Given the description of an element on the screen output the (x, y) to click on. 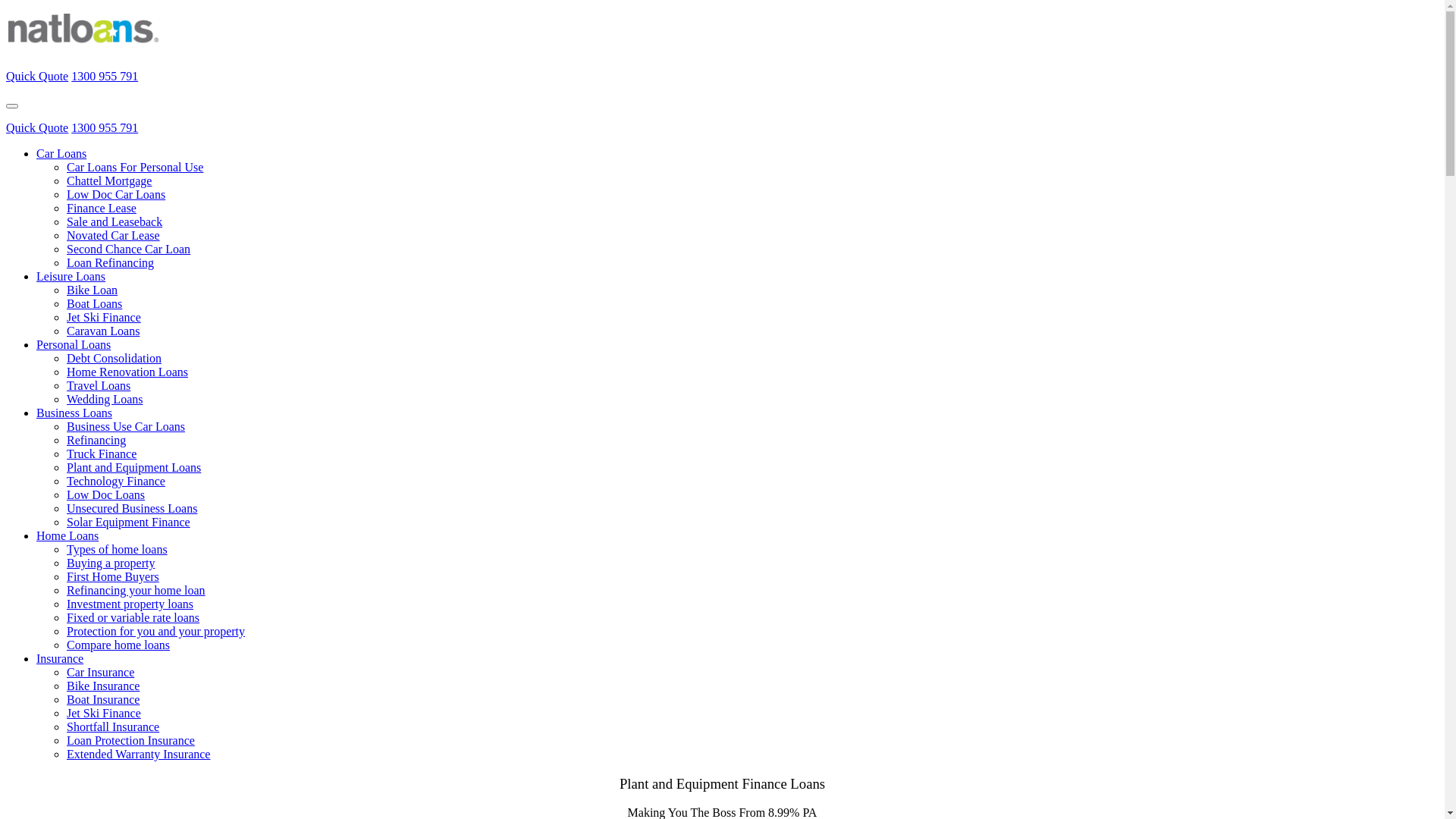
Car Insurance Element type: text (100, 671)
Travel Loans Element type: text (98, 385)
Loan Refinancing Element type: text (109, 262)
Second Chance Car Loan Element type: text (128, 248)
Chattel Mortgage Element type: text (108, 180)
Types of home loans Element type: text (116, 548)
Sale and Leaseback Element type: text (114, 221)
Technology Finance Element type: text (115, 480)
Leisure Loans Element type: text (70, 275)
Solar Equipment Finance Element type: text (128, 521)
1300 955 791 Element type: text (104, 75)
Car Loans For Personal Use Element type: text (134, 166)
Bike Loan Element type: text (91, 289)
Refinancing Element type: text (95, 439)
Wedding Loans Element type: text (104, 398)
Jet Ski Finance Element type: text (103, 316)
Truck Finance Element type: text (101, 453)
Home Renovation Loans Element type: text (127, 371)
Quick Quote Element type: text (37, 75)
Investment property loans Element type: text (129, 603)
Shortfall Insurance Element type: text (112, 726)
Jet Ski Finance Element type: text (103, 712)
Buying a property Element type: text (110, 562)
Loan Protection Insurance Element type: text (130, 740)
Personal Loans Element type: text (73, 344)
Protection for you and your property Element type: text (155, 630)
Quick Quote Element type: text (37, 127)
Fixed or variable rate loans Element type: text (132, 617)
Boat Loans Element type: text (94, 303)
Caravan Loans Element type: text (102, 330)
Finance Lease Element type: text (101, 207)
Bike Insurance Element type: text (102, 685)
Low Doc Loans Element type: text (105, 494)
Business Loans Element type: text (74, 412)
Business Use Car Loans Element type: text (125, 426)
Home Loans Element type: text (67, 535)
Plant and Equipment Loans Element type: text (133, 467)
Refinancing your home loan Element type: text (135, 589)
Novated Car Lease Element type: text (113, 235)
First Home Buyers Element type: text (112, 576)
Unsecured Business Loans Element type: text (131, 508)
Low Doc Car Loans Element type: text (115, 194)
Car Loans Element type: text (61, 153)
Debt Consolidation Element type: text (113, 357)
1300 955 791 Element type: text (104, 127)
Boat Insurance Element type: text (102, 699)
Extended Warranty Insurance Element type: text (138, 753)
Compare home loans Element type: text (117, 644)
Insurance Element type: text (59, 658)
